Given the description of an element on the screen output the (x, y) to click on. 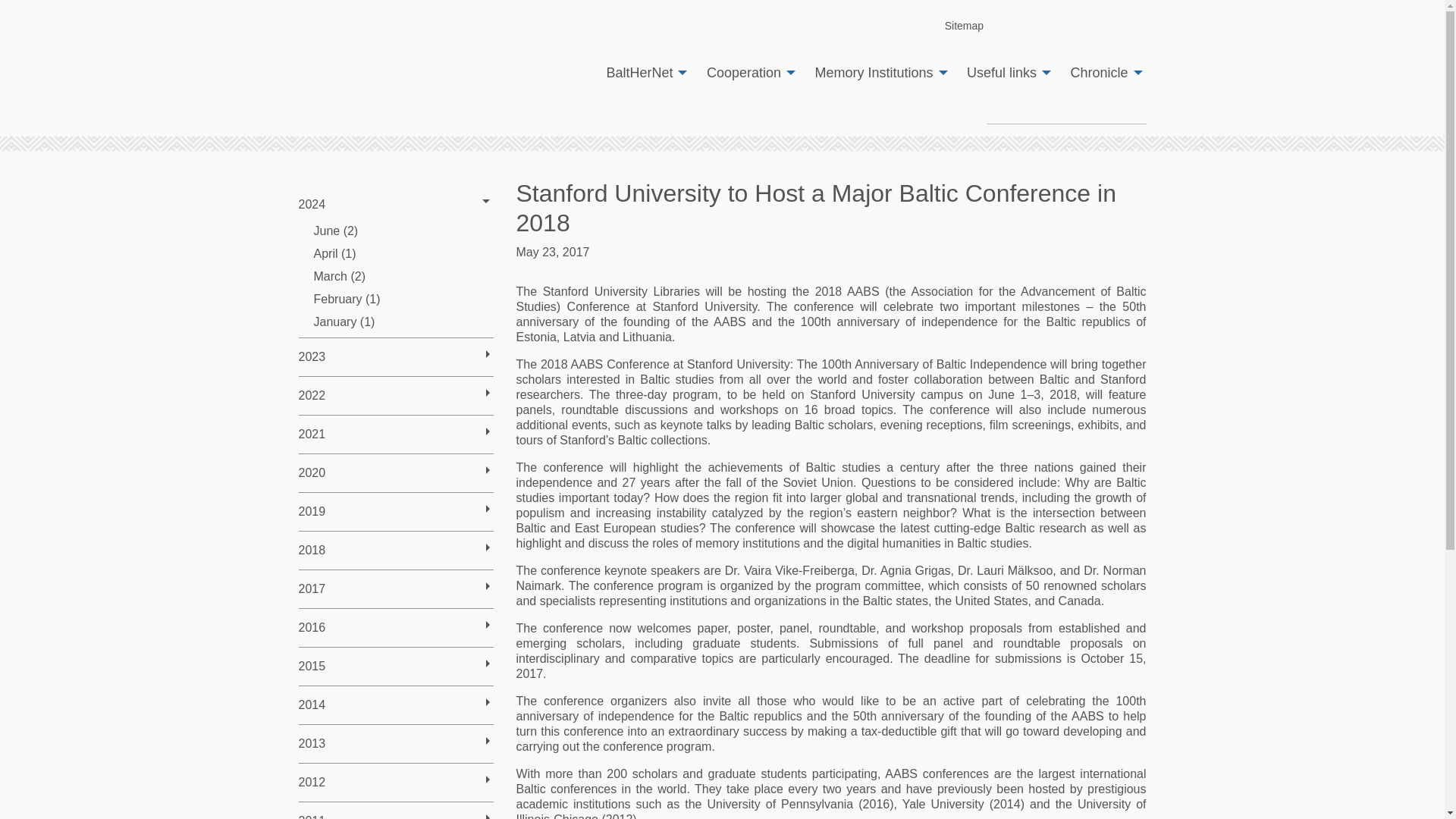
English (1018, 25)
Eesti (1047, 25)
Lietuvos (1104, 25)
